Given the description of an element on the screen output the (x, y) to click on. 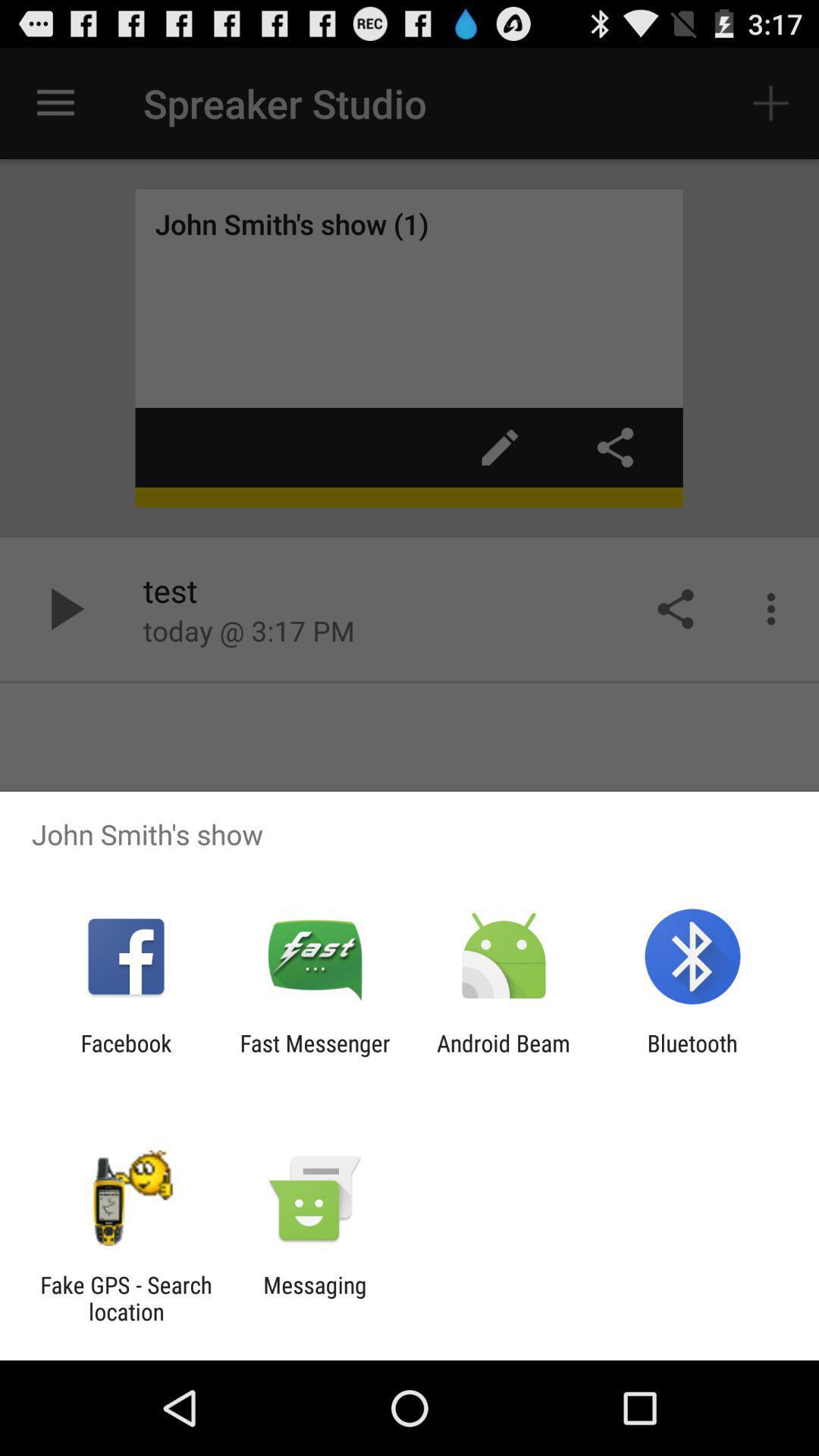
open app to the left of bluetooth icon (503, 1056)
